Given the description of an element on the screen output the (x, y) to click on. 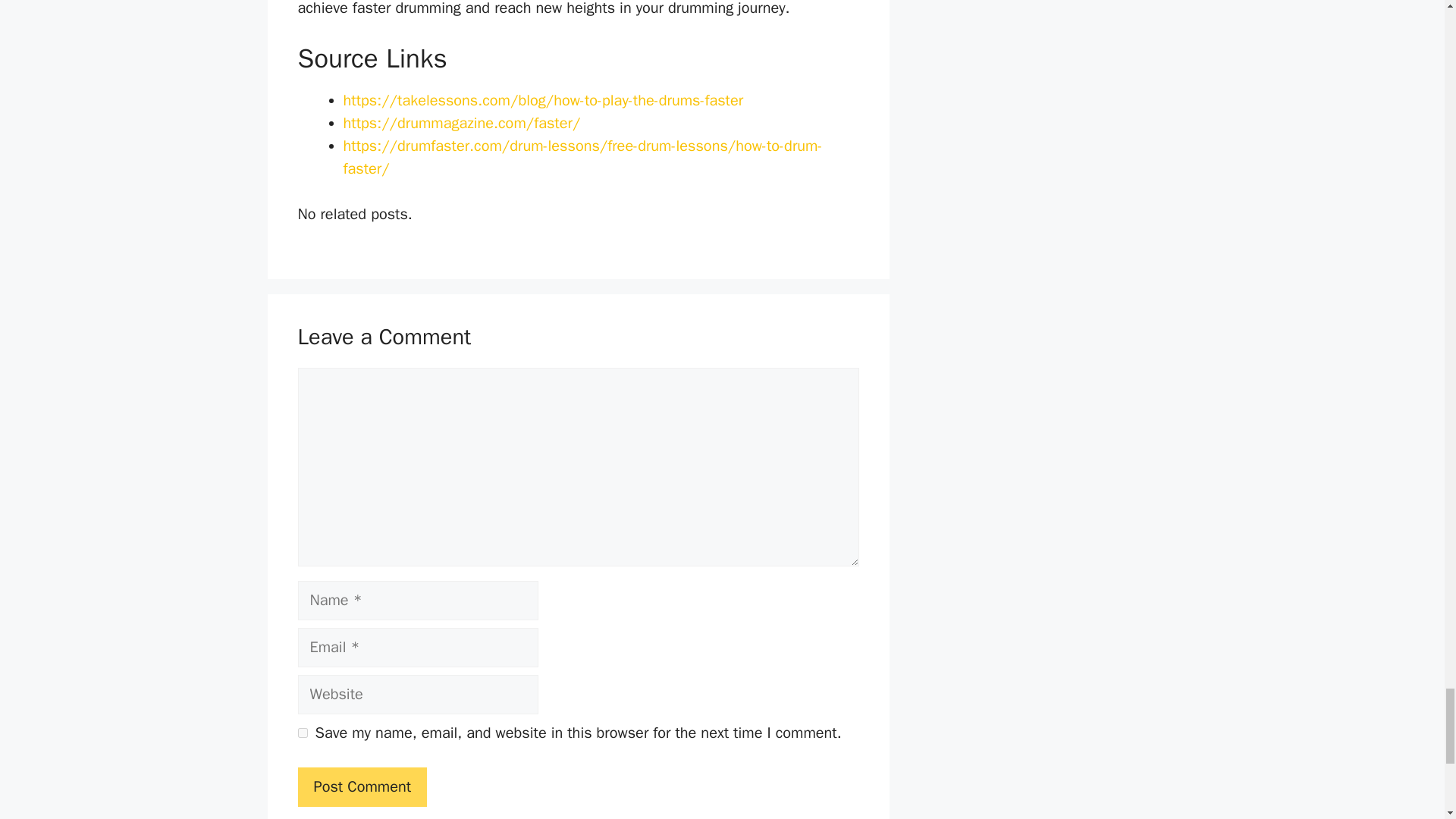
Post Comment (361, 786)
yes (302, 732)
Post Comment (361, 786)
